Given the description of an element on the screen output the (x, y) to click on. 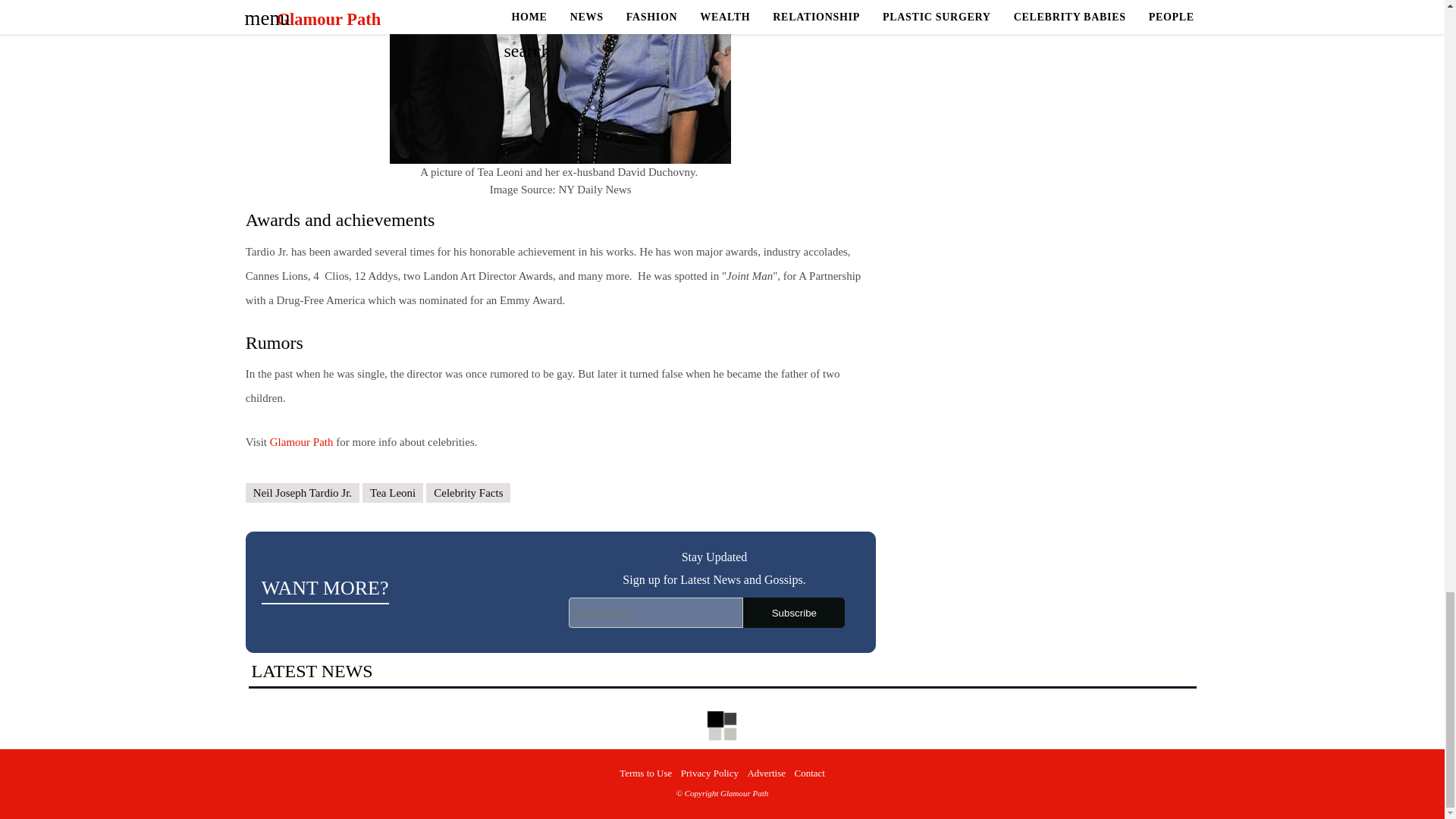
Tea Leoni (392, 493)
Subscribe (793, 612)
Neil Joseph Tardio Jr. (302, 493)
Glamour Path (301, 441)
Celebrity Facts (468, 493)
